Given the description of an element on the screen output the (x, y) to click on. 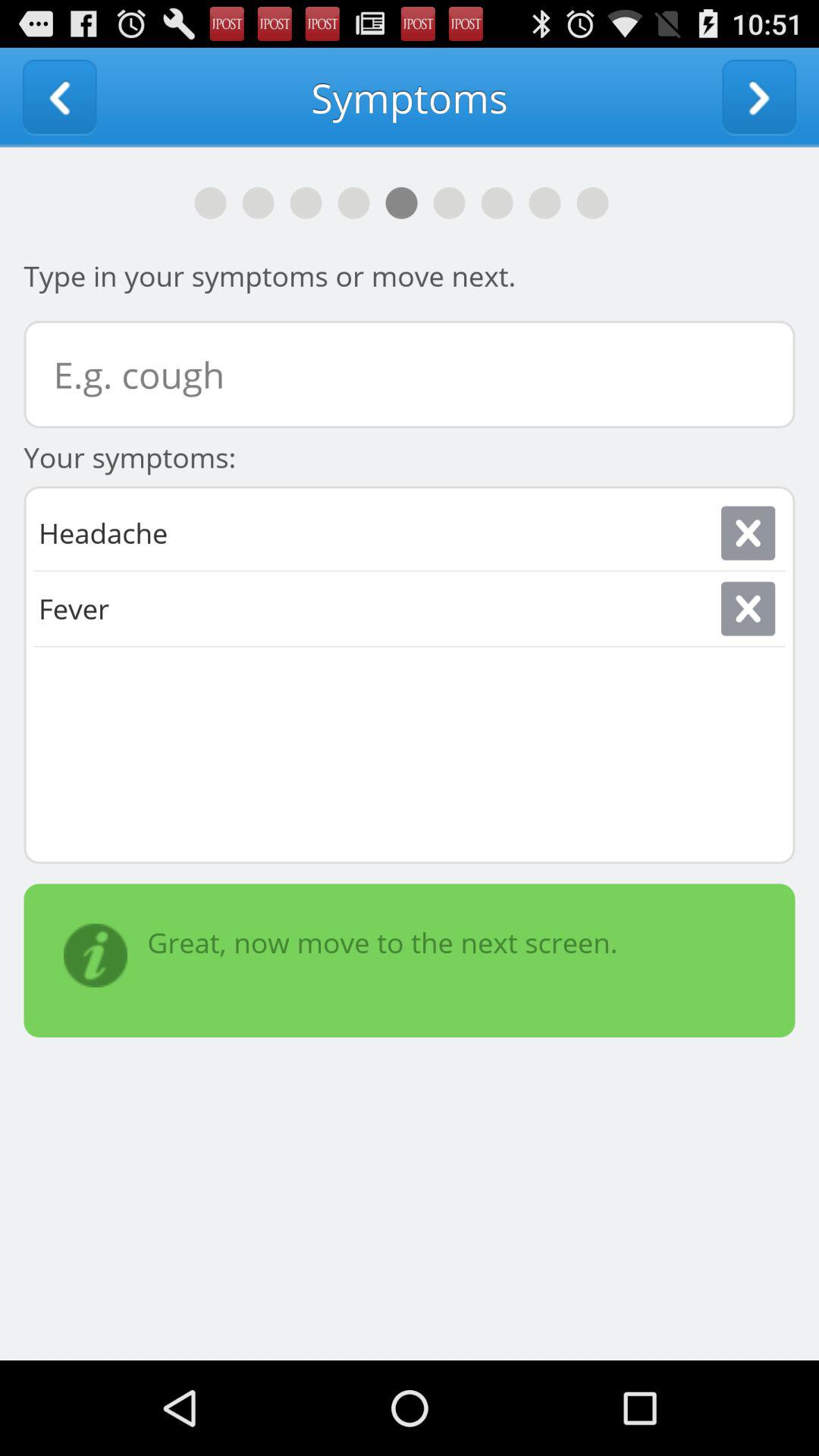
view previous (59, 97)
